Given the description of an element on the screen output the (x, y) to click on. 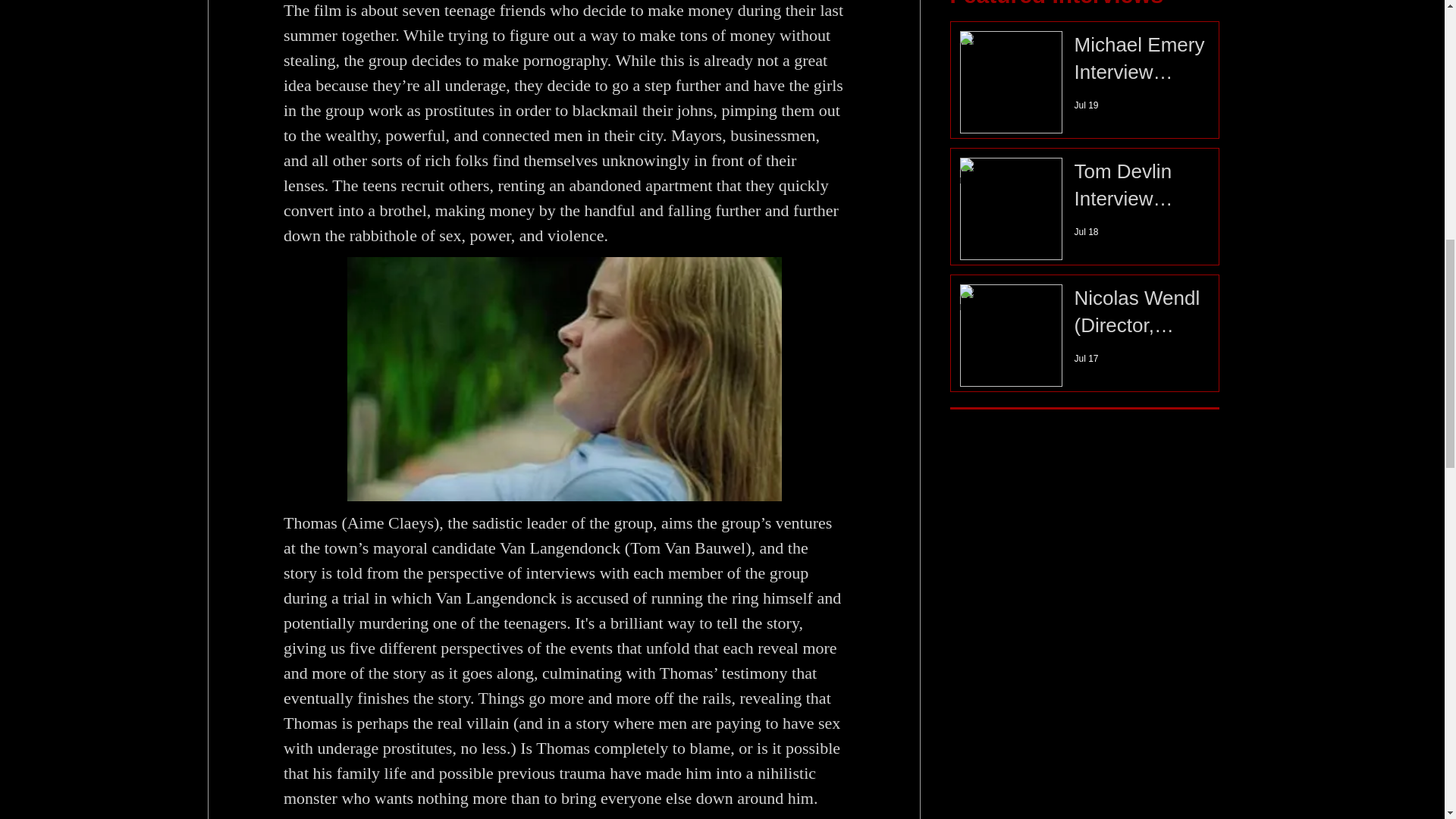
Jul 18 (1085, 231)
Jul 17 (1085, 357)
Jul 19 (1085, 104)
